Given the description of an element on the screen output the (x, y) to click on. 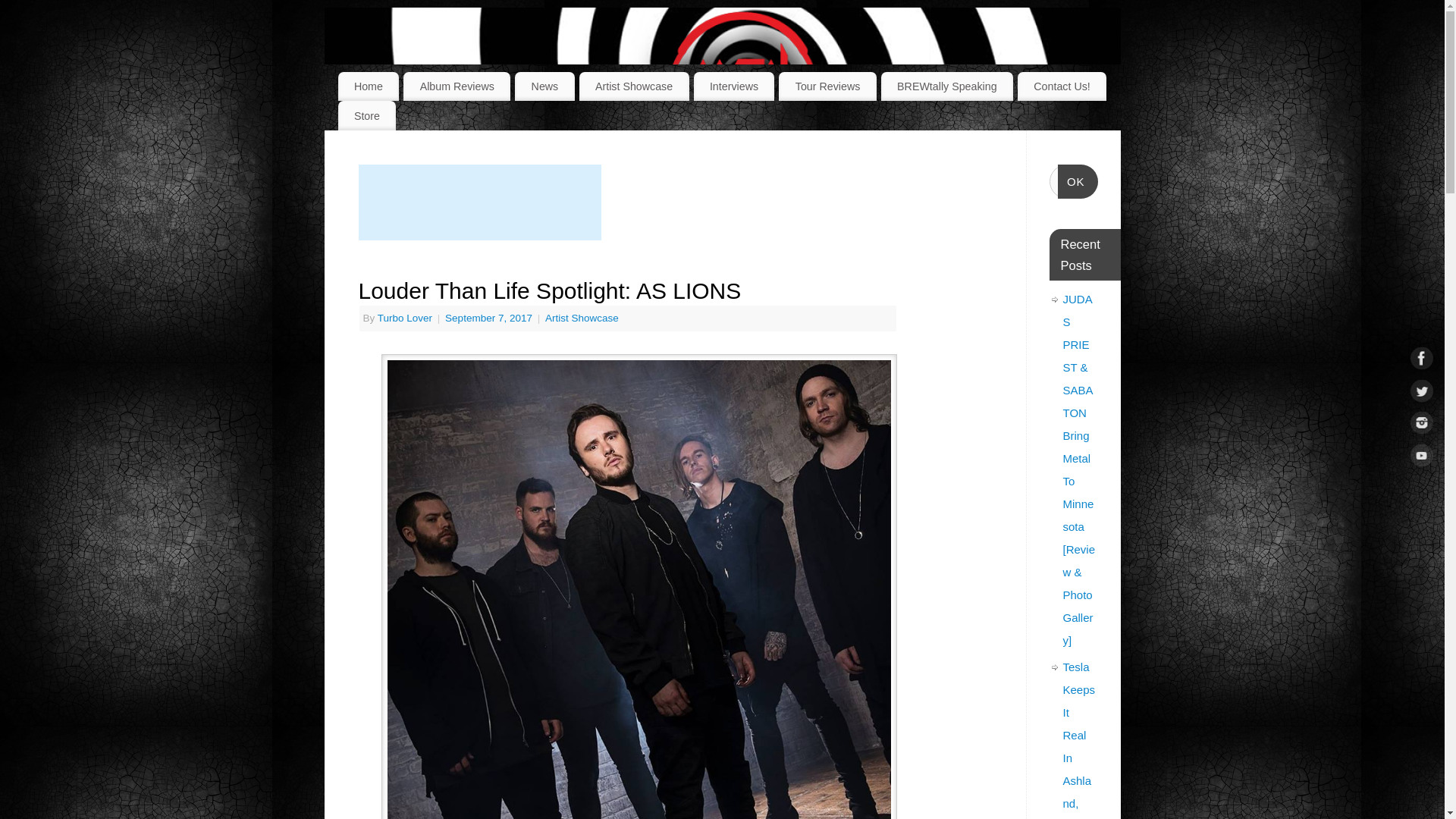
September 7, 2017 (490, 317)
BREWtally Speaking (946, 86)
Artist Showcase (581, 317)
Advertisement (478, 202)
News (544, 86)
Metal Nexus (741, 82)
Turbo Lover (404, 317)
2:54 pm (490, 317)
Store (366, 114)
Album Reviews (457, 86)
Home (367, 86)
Tour Reviews (827, 86)
View all posts by Turbo Lover (404, 317)
Artist Showcase (633, 86)
OK (1077, 181)
